Given the description of an element on the screen output the (x, y) to click on. 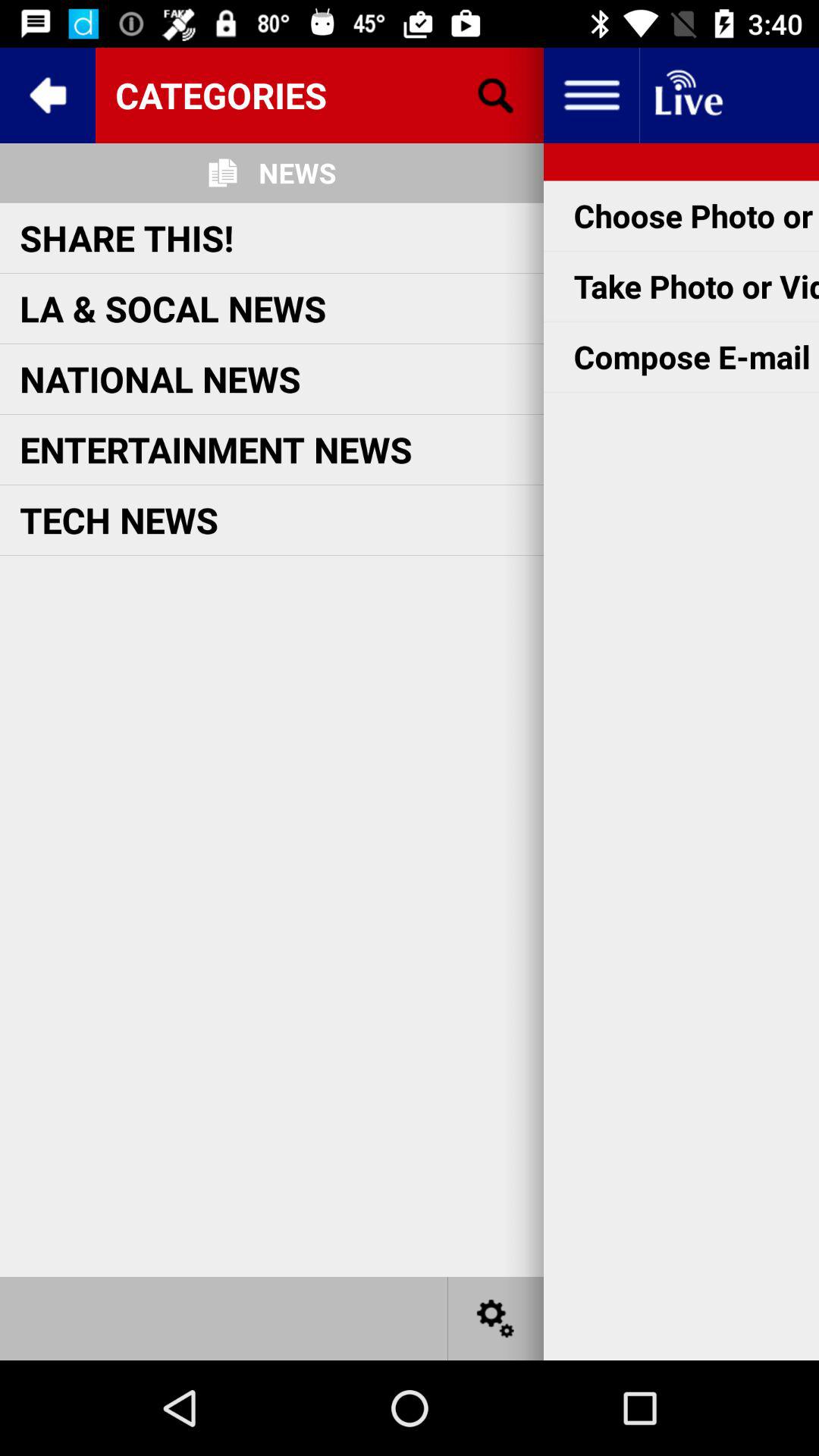
launch item above the entertainment news (159, 378)
